Given the description of an element on the screen output the (x, y) to click on. 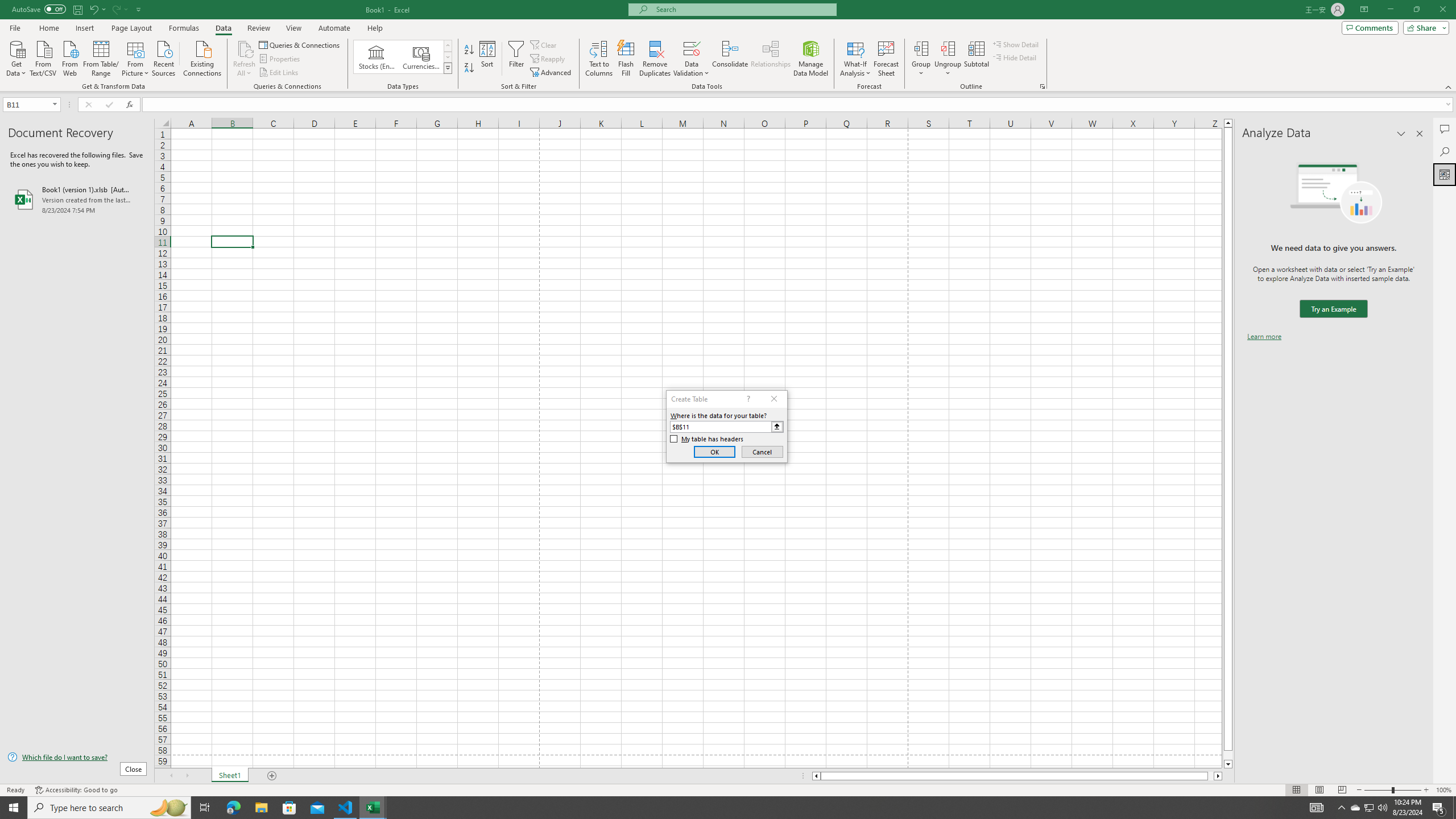
Consolidate... (729, 58)
